Given the description of an element on the screen output the (x, y) to click on. 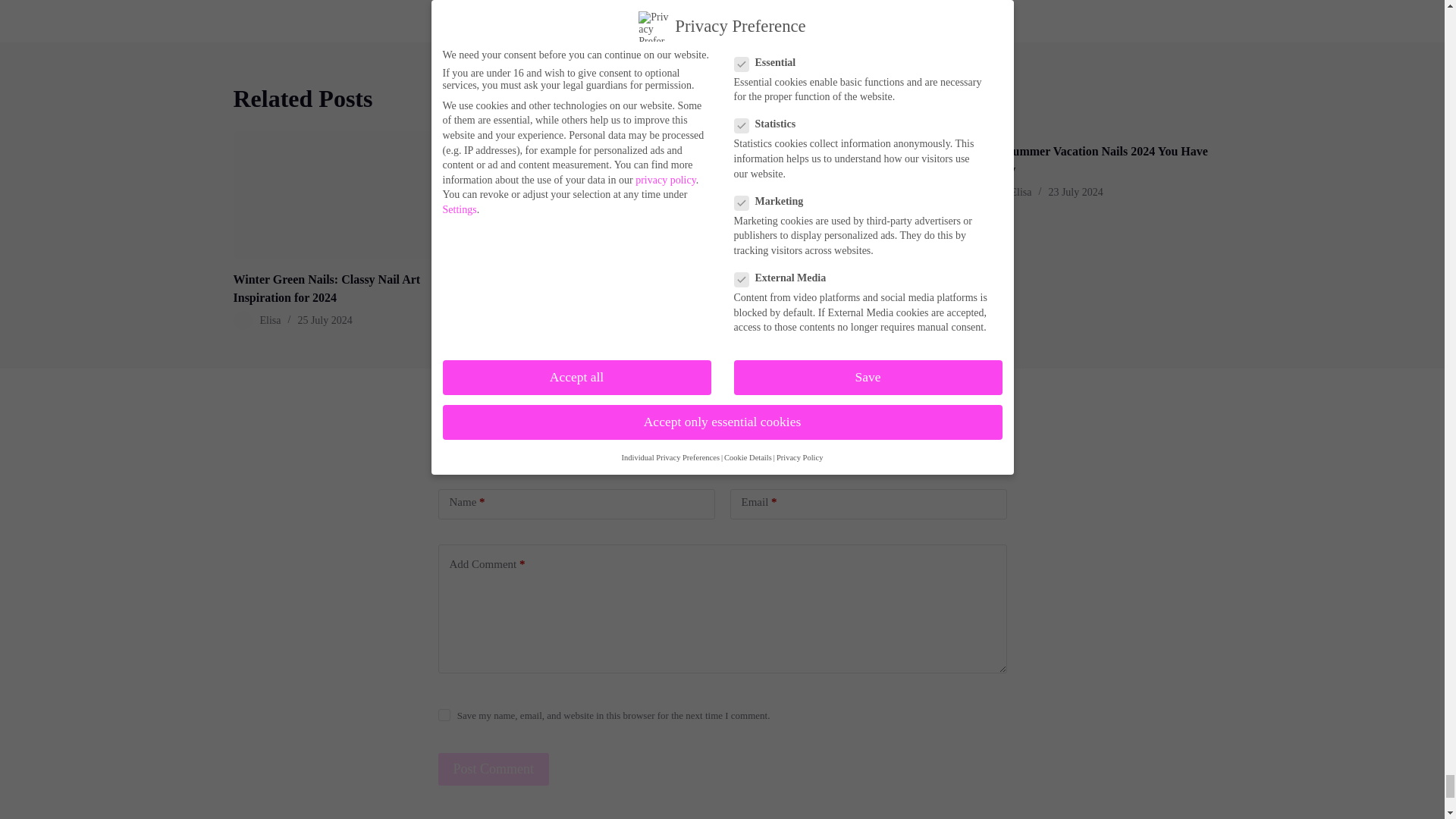
yes (443, 715)
